Given the description of an element on the screen output the (x, y) to click on. 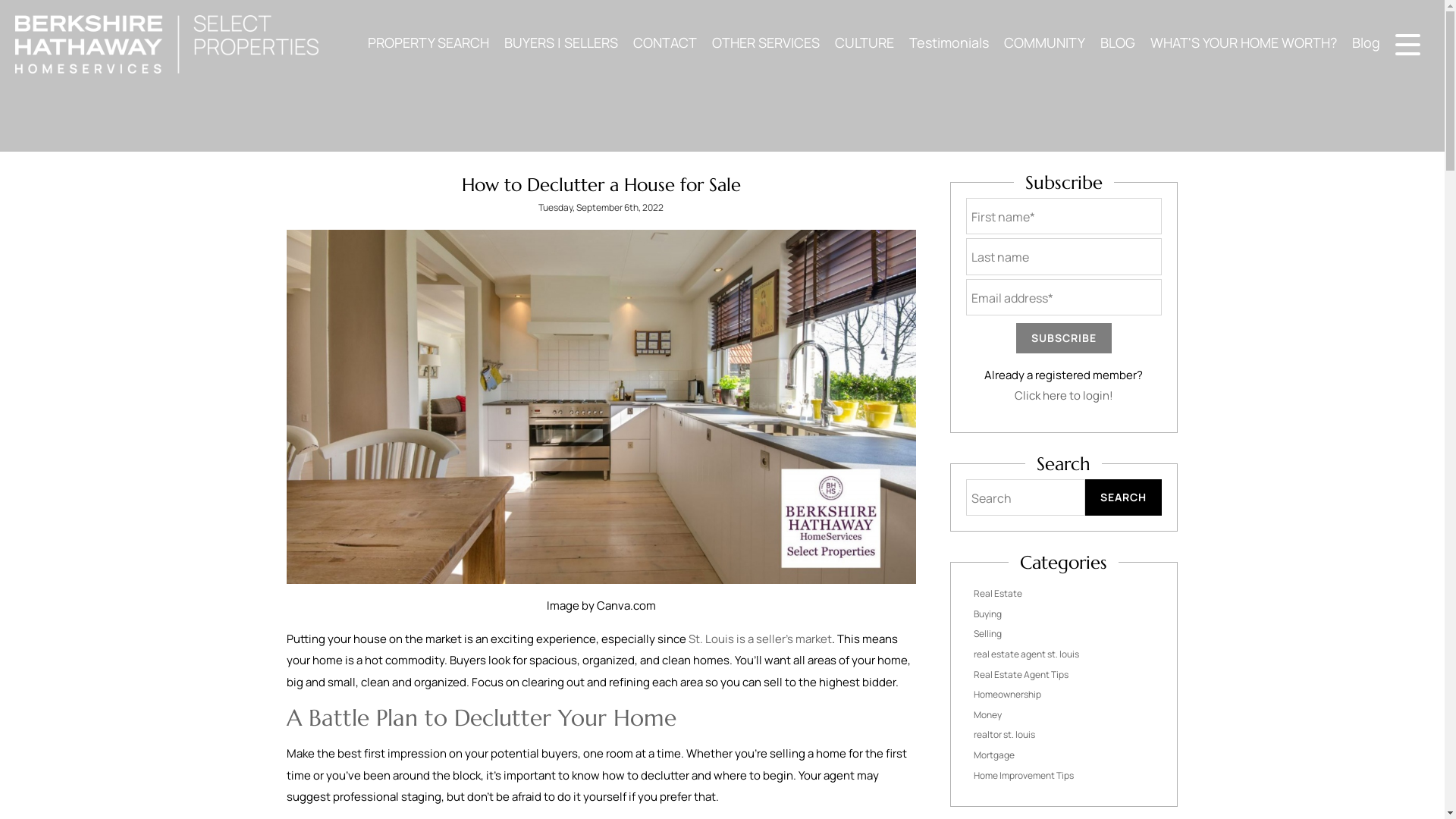
CONTACT (665, 42)
CULTURE (864, 42)
Subscribe (1064, 337)
PROPERTY SEARCH (427, 42)
OTHER SERVICES (765, 42)
Search (1122, 497)
COMMUNITY (1044, 42)
Testimonials (948, 42)
